Given the description of an element on the screen output the (x, y) to click on. 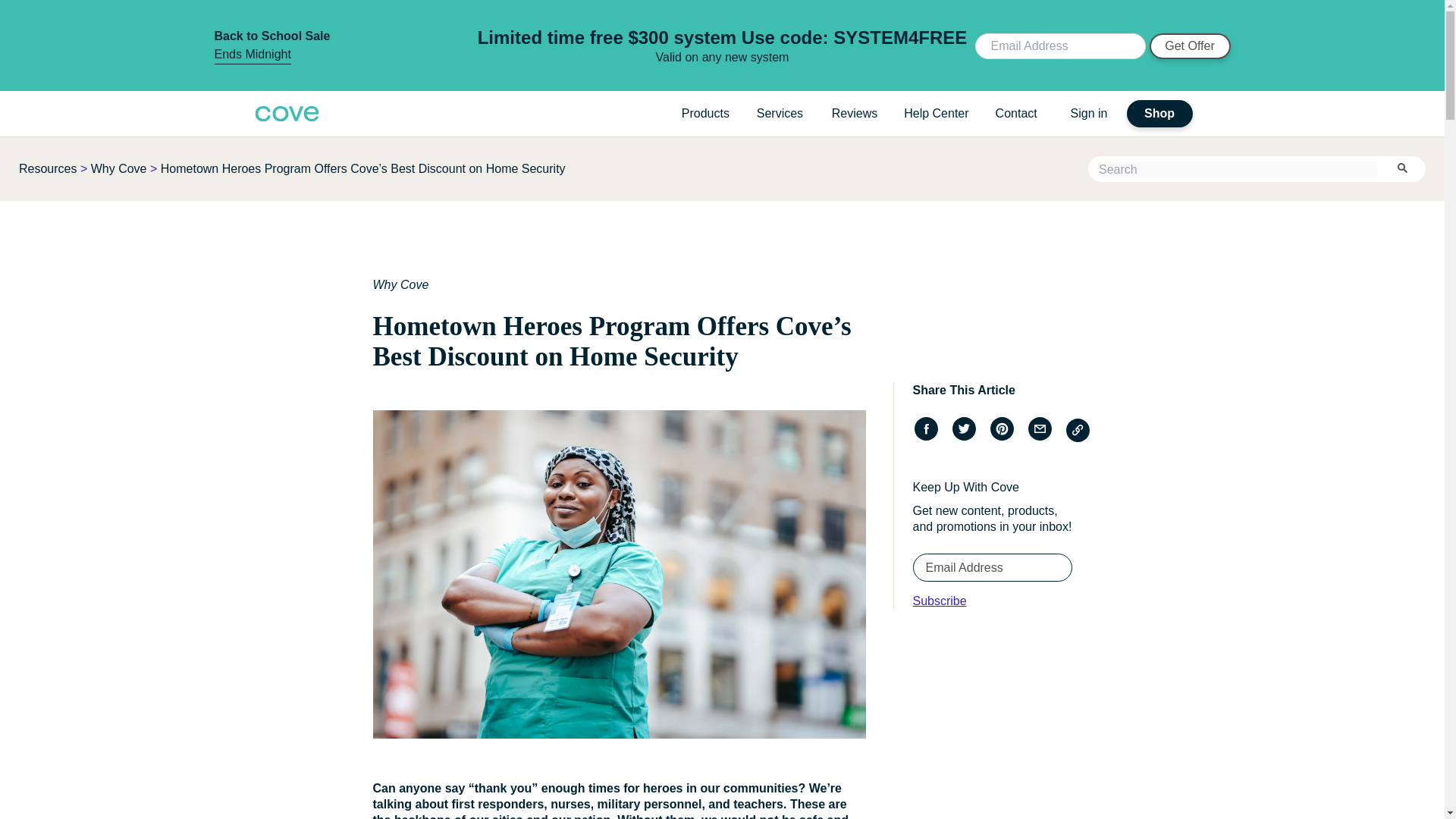
Get Offer (1190, 45)
Products (705, 112)
Reviews (854, 112)
Contact (1019, 112)
Shop (1159, 113)
Help Center (936, 112)
Services (781, 112)
Sign in (1089, 113)
Why Cove (118, 168)
Resources (47, 168)
